Given the description of an element on the screen output the (x, y) to click on. 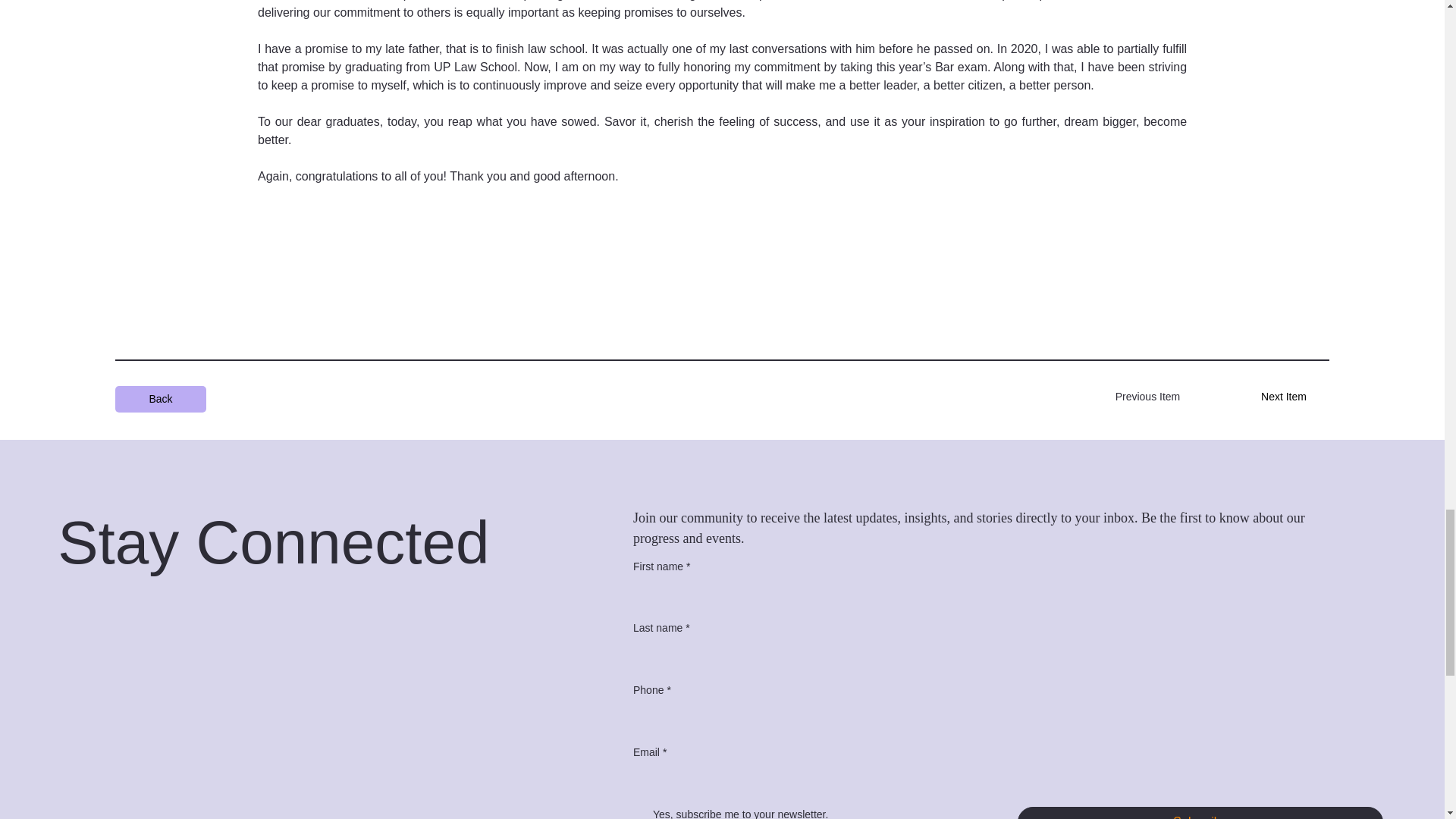
Back (160, 398)
Next Item (1283, 397)
Previous Item (1147, 397)
